Given the description of an element on the screen output the (x, y) to click on. 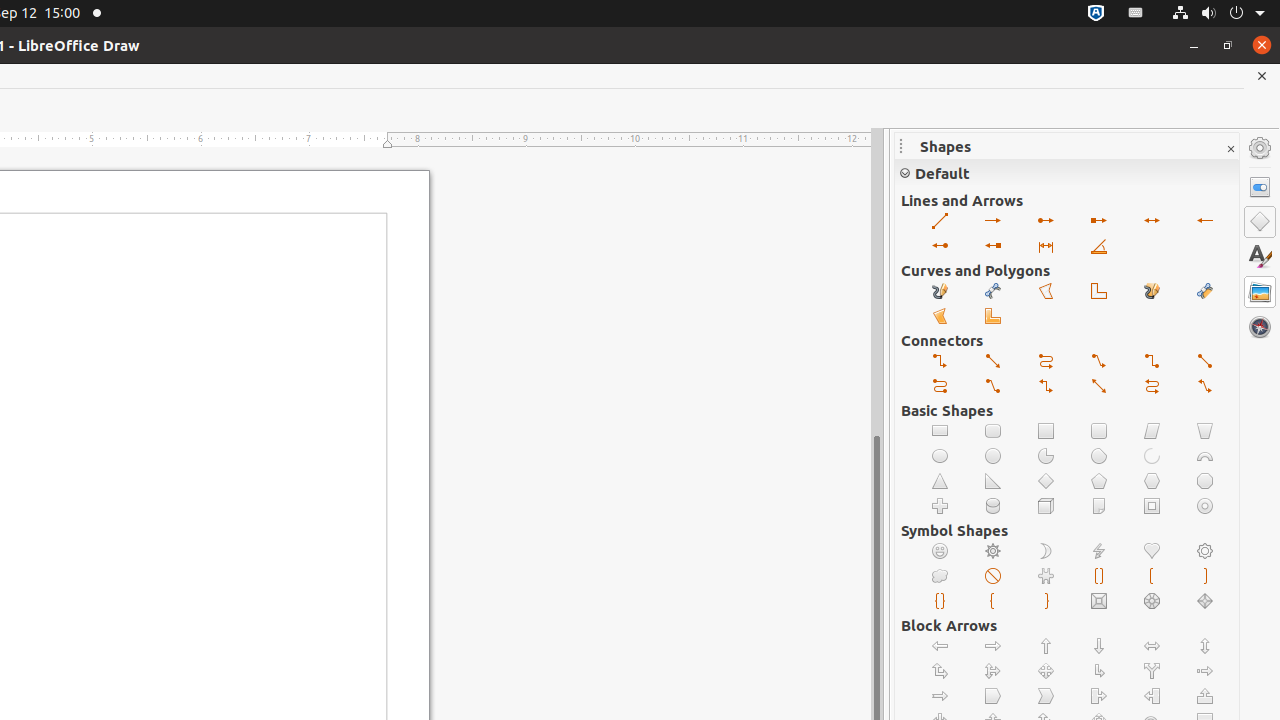
Connector with Arrows Element type: list-item (1046, 386)
Insert Line Element type: list-item (940, 221)
Puzzle Element type: list-item (1046, 576)
:1.21/StatusNotifierItem Element type: menu (1136, 13)
Trapezoid Element type: list-item (1205, 431)
